Given the description of an element on the screen output the (x, y) to click on. 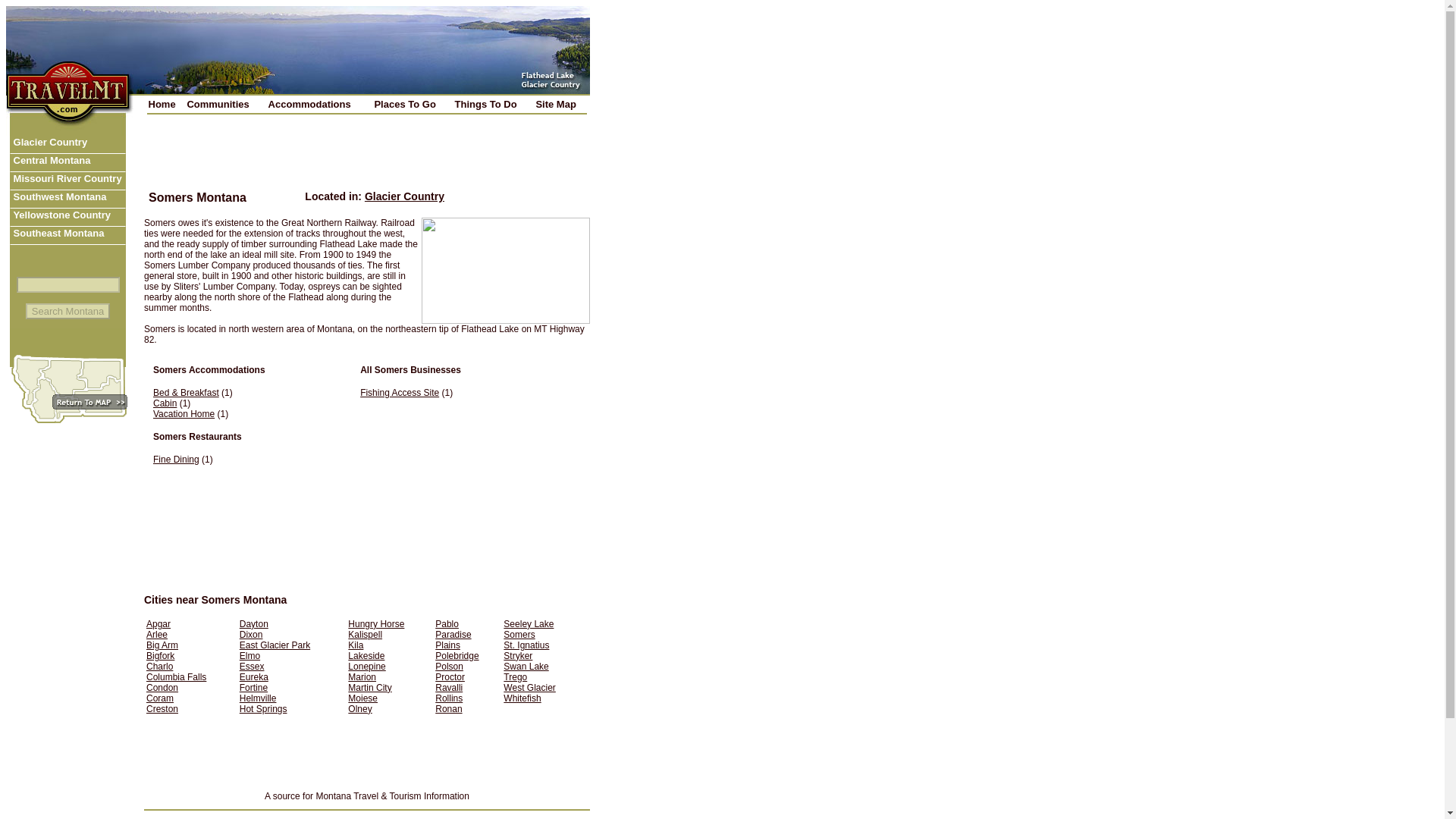
Columbia Falls (176, 676)
Eureka (253, 676)
Creston (162, 708)
 Missouri River Country (67, 180)
 Glacier Country (67, 144)
 Central Montana (67, 162)
Big Arm (162, 644)
Search Montana (68, 311)
Coram (160, 697)
Hot Springs (263, 708)
Elmo (250, 655)
Dayton (253, 624)
Accommodations (319, 103)
 Southeast Montana (67, 235)
Helmville (258, 697)
